Given the description of an element on the screen output the (x, y) to click on. 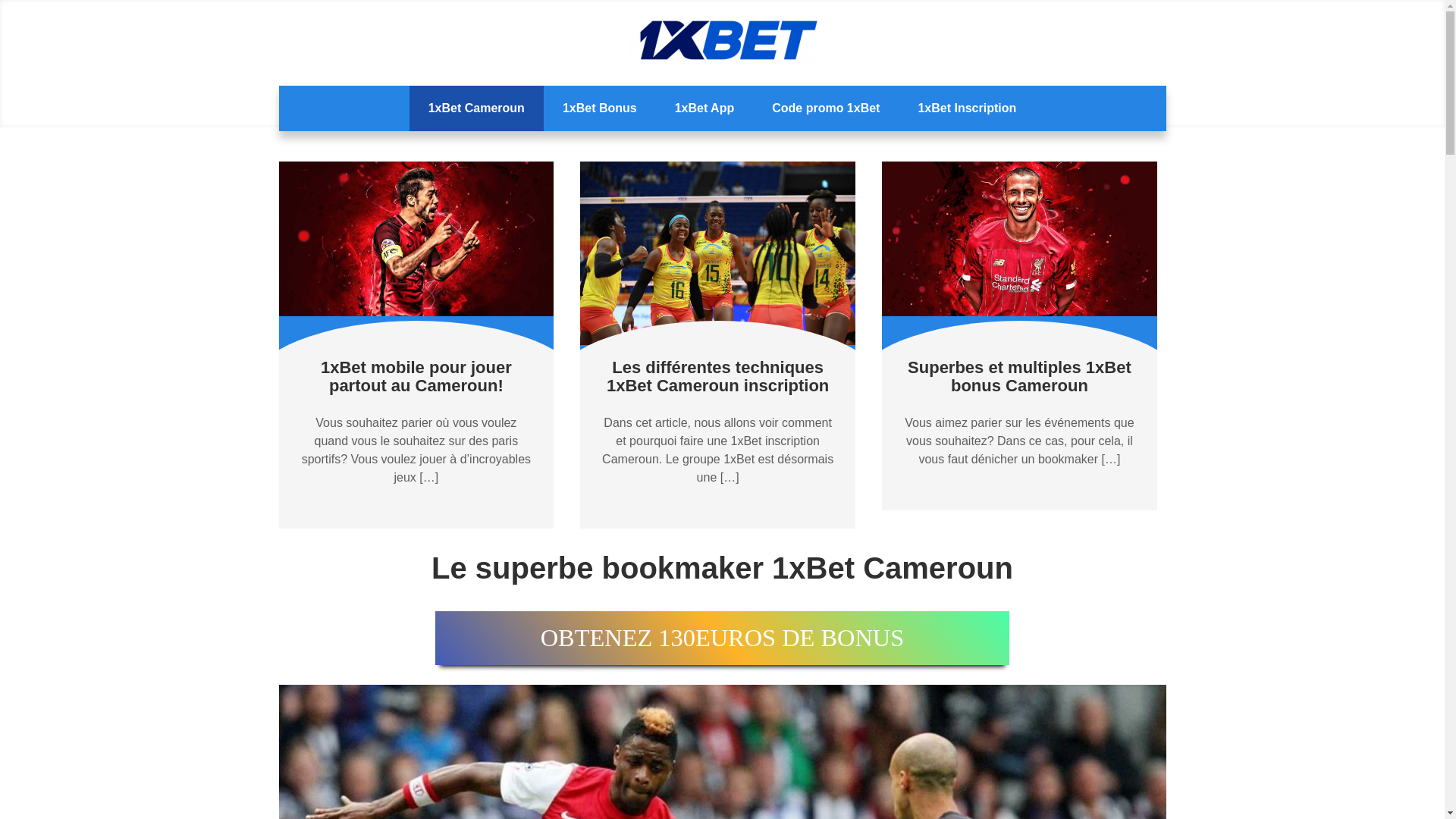
1xBet Bonus Element type: text (599, 108)
1xBet mobile pour jouer partout au Cameroun! Element type: text (415, 376)
1xBet App Element type: text (704, 108)
1xBet Cameroun Element type: text (476, 108)
Code promo 1xBet Element type: text (825, 108)
1xBet Inscription Element type: text (966, 108)
OBTENEZ 130EUROS DE BONUS Element type: text (722, 638)
Superbes et multiples 1xBet bonus Cameroun Element type: text (1019, 376)
